Given the description of an element on the screen output the (x, y) to click on. 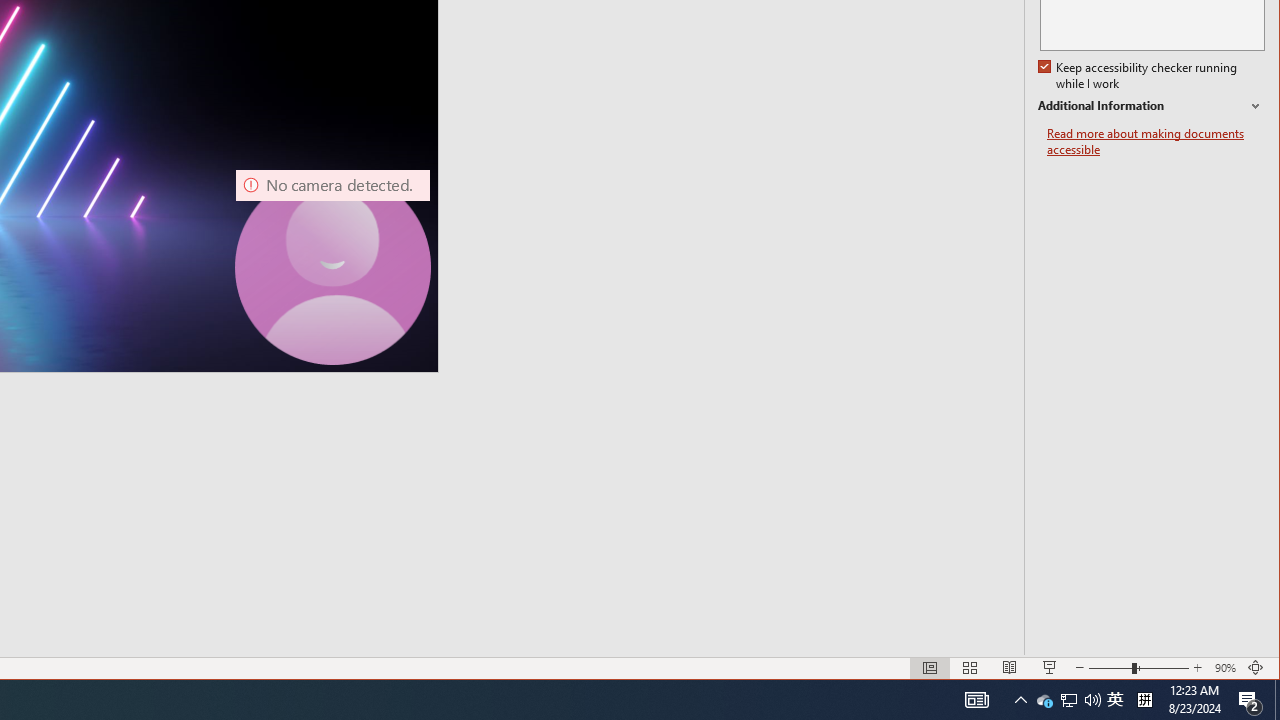
Camera 7, No camera detected. (333, 267)
Read more about making documents accessible (1155, 142)
Keep accessibility checker running while I work (1044, 699)
